Given the description of an element on the screen output the (x, y) to click on. 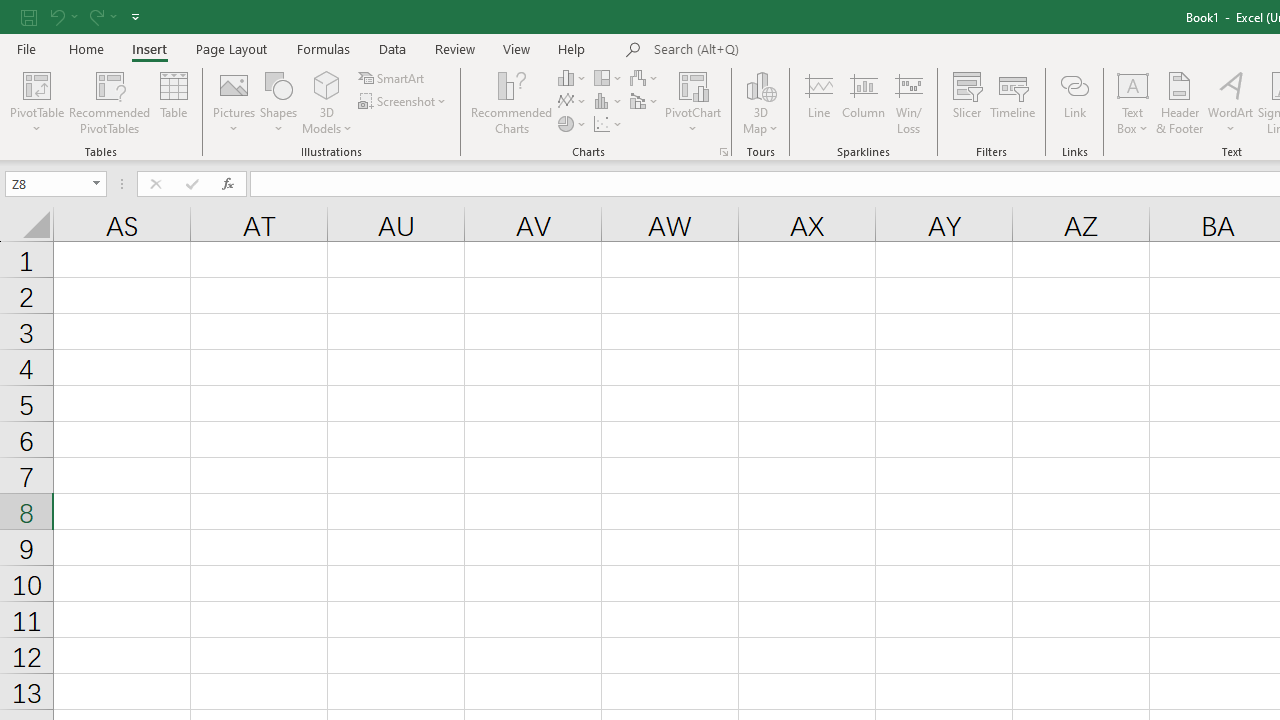
SmartArt... (392, 78)
Pictures (234, 102)
WordArt (1230, 102)
Insert Statistic Chart (609, 101)
Insert Waterfall, Funnel, Stock, Surface, or Radar Chart (645, 78)
Table (173, 102)
Header & Footer... (1179, 102)
Win/Loss (909, 102)
